Given the description of an element on the screen output the (x, y) to click on. 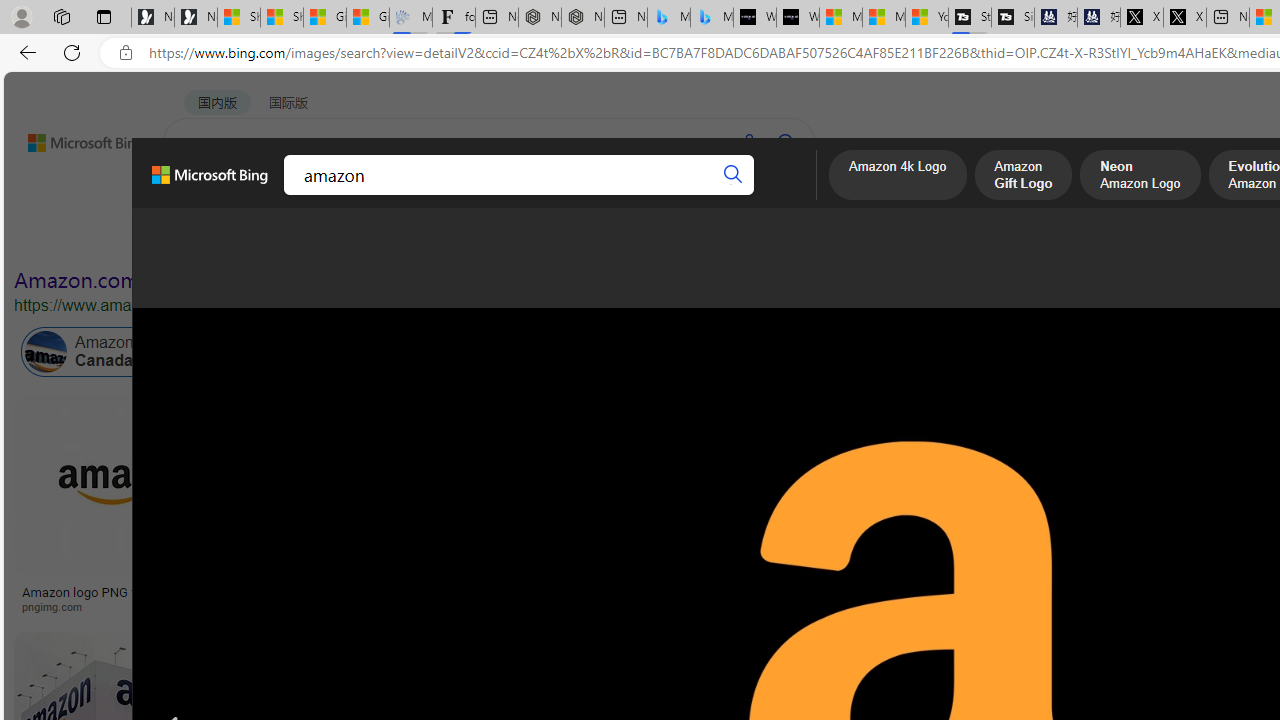
Amazon Gift Logo (1023, 177)
DICT (630, 195)
Amazon Echo Dot 4th Gen (1087, 465)
Color (305, 237)
Amazon Canada Online (114, 351)
Class: b_pri_nav_svg (336, 196)
MORE (779, 195)
Amazon Animals (706, 351)
Search using voice (748, 142)
